Given the description of an element on the screen output the (x, y) to click on. 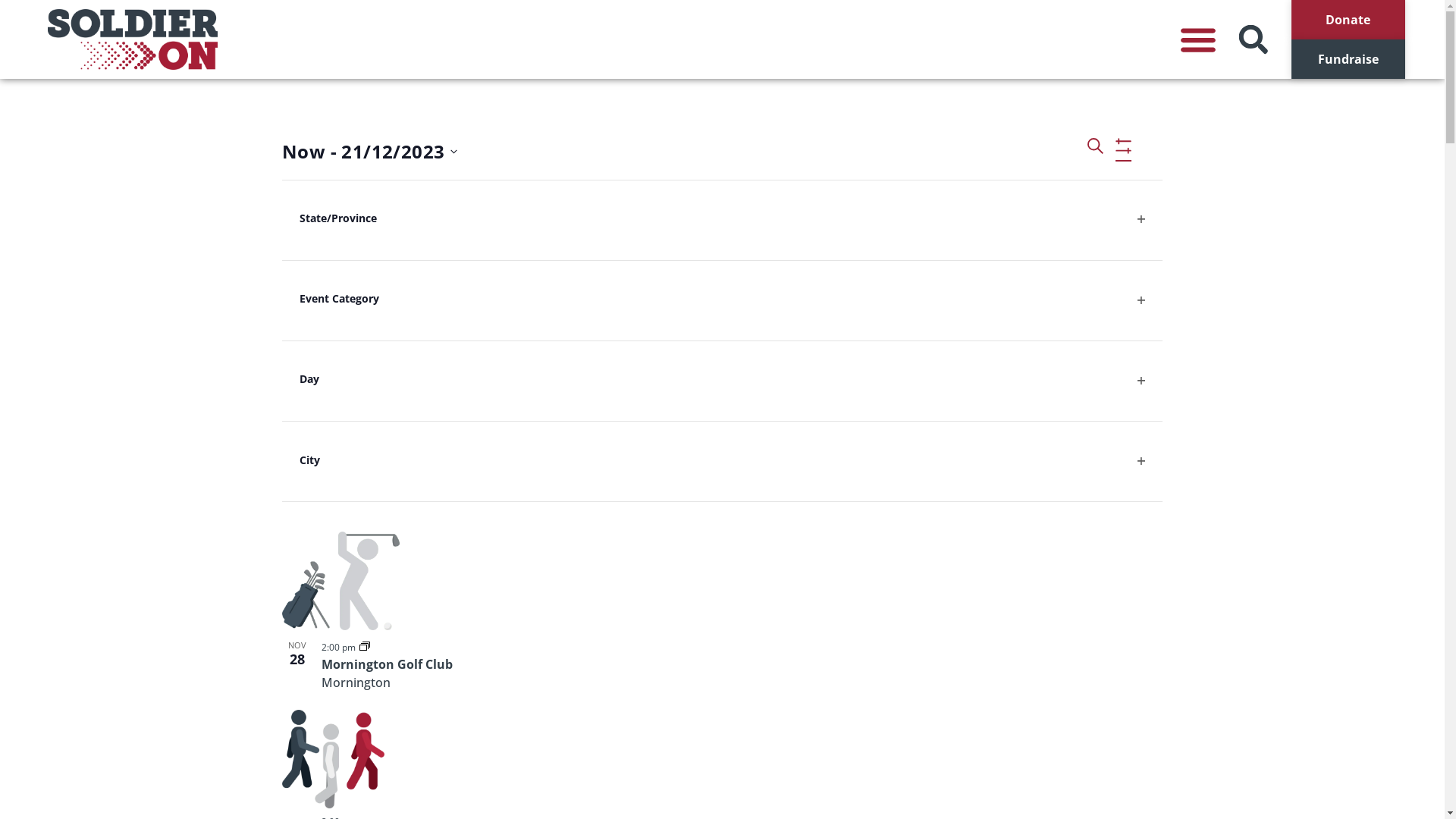
Now
 - 
21/12/2023 Element type: text (369, 151)
Donate Element type: text (1347, 19)
City
Open filter Element type: text (722, 461)
Walk And Brew Element type: text (367, 312)
Support Chat Element type: hover (722, 406)
Mornington Golf Club Element type: hover (722, 580)
Mornington Golf Club Element type: text (386, 664)
Photo Element type: text (1155, 150)
Day
Open filter Element type: text (722, 380)
Support Chat Element type: text (361, 486)
State/Province
Open filter Element type: text (722, 219)
Event Series Element type: text (364, 293)
Event Series Element type: text (364, 645)
Fundraise Element type: text (1347, 58)
Event Category
Open filter Element type: text (722, 300)
Search Element type: text (1095, 150)
Hide Filters Element type: text (1123, 145)
Walk And Brew Element type: hover (722, 228)
